Given the description of an element on the screen output the (x, y) to click on. 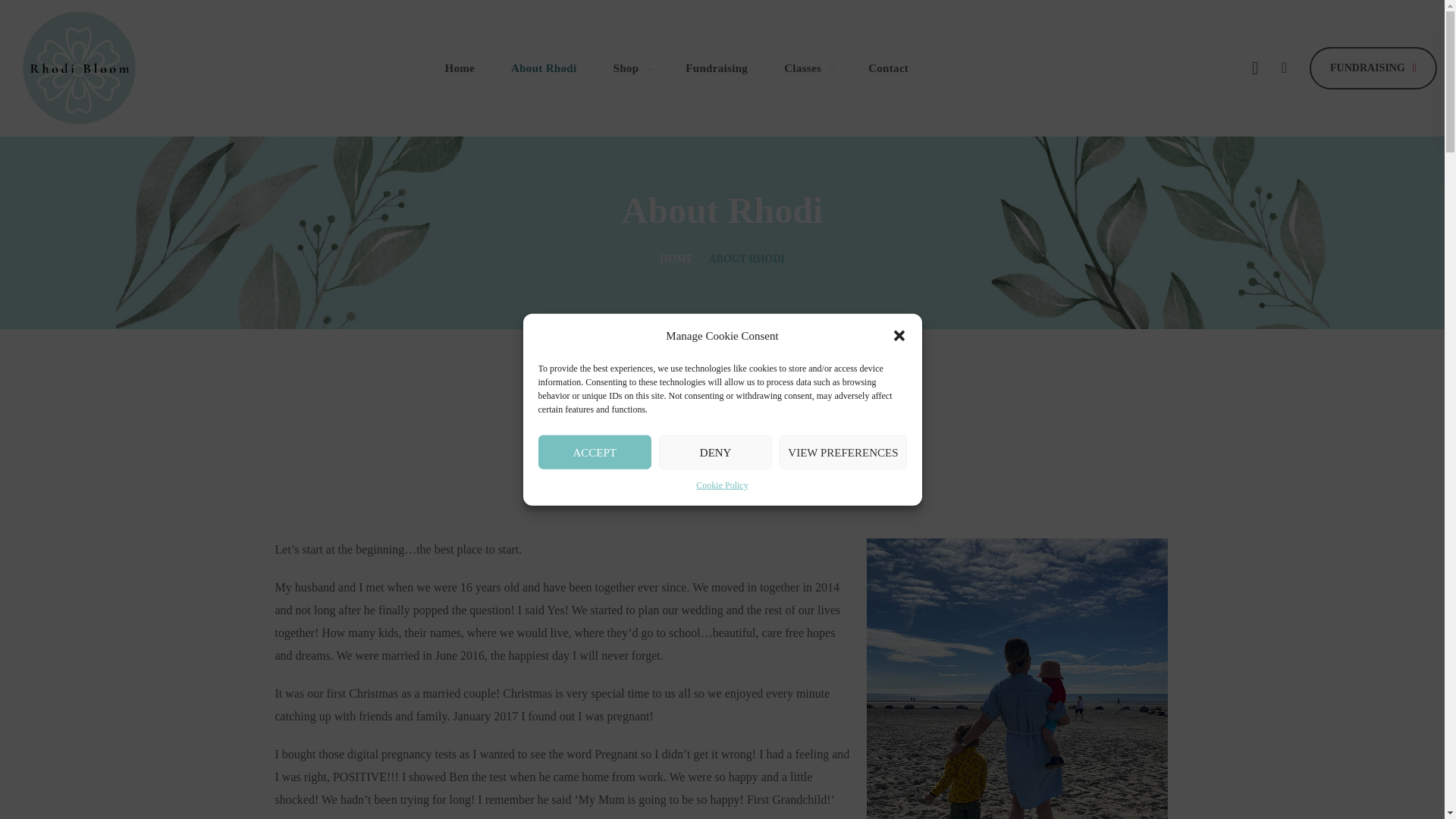
VIEW PREFERENCES (841, 451)
Search (1230, 158)
Contact (888, 67)
DENY (715, 451)
Cookie Policy (721, 485)
ACCEPT (594, 451)
About Rhodi (543, 67)
Classes (807, 67)
Shop (630, 67)
FUNDRAISING (1372, 67)
Fundraising (715, 67)
